Given the description of an element on the screen output the (x, y) to click on. 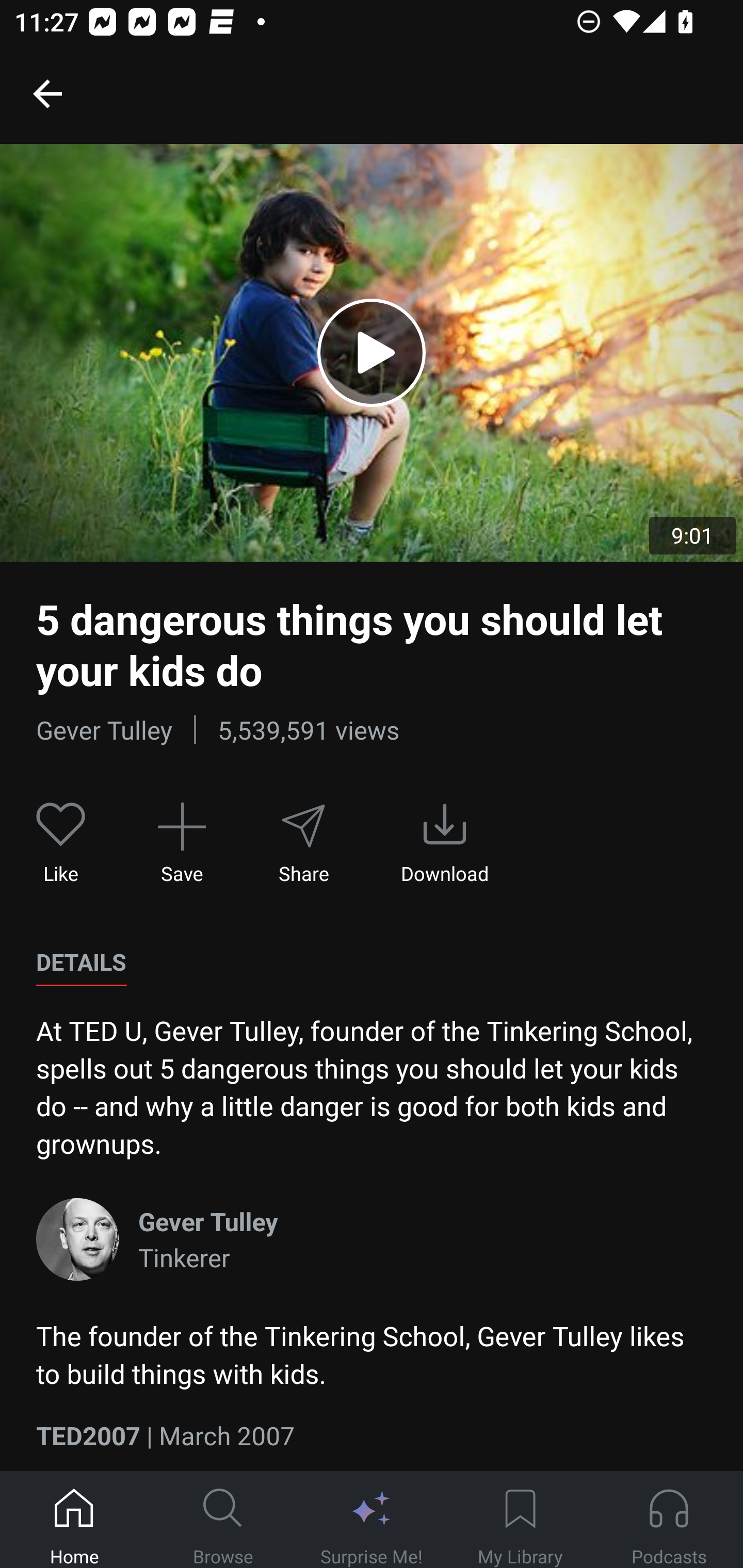
Home, back (47, 92)
Like (60, 843)
Save (181, 843)
Share (302, 843)
Download (444, 843)
DETAILS (80, 962)
Home (74, 1520)
Browse (222, 1520)
Surprise Me! (371, 1520)
My Library (519, 1520)
Podcasts (668, 1520)
